Given the description of an element on the screen output the (x, y) to click on. 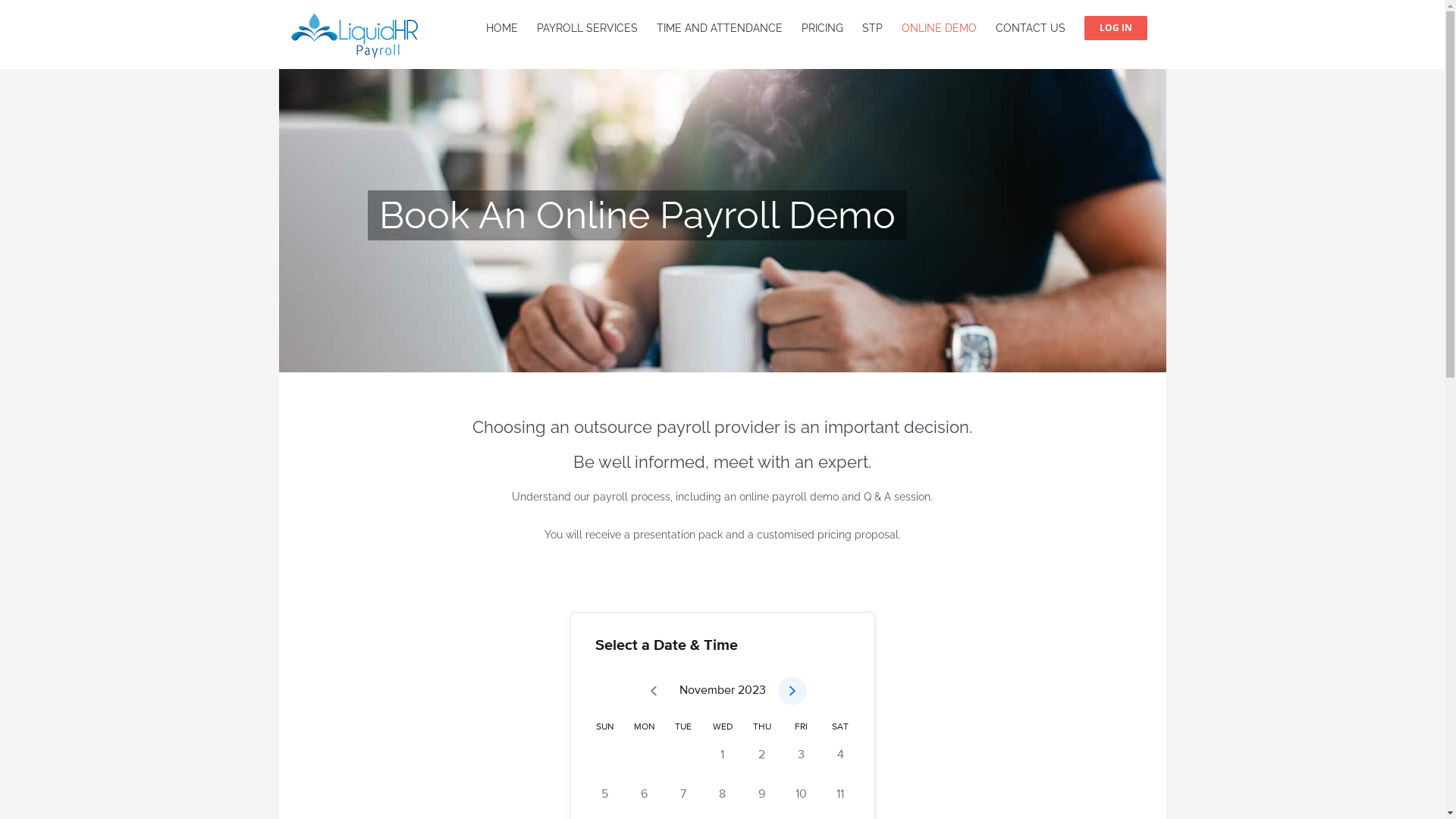
PAYROLL SERVICES Element type: text (586, 27)
STP Element type: text (871, 27)
HOME Element type: text (501, 27)
ONLINE DEMO Element type: text (937, 27)
CONTACT US Element type: text (1029, 27)
TIME AND ATTENDANCE Element type: text (719, 27)
LOG IN Element type: text (1115, 27)
PRICING Element type: text (821, 27)
